Given the description of an element on the screen output the (x, y) to click on. 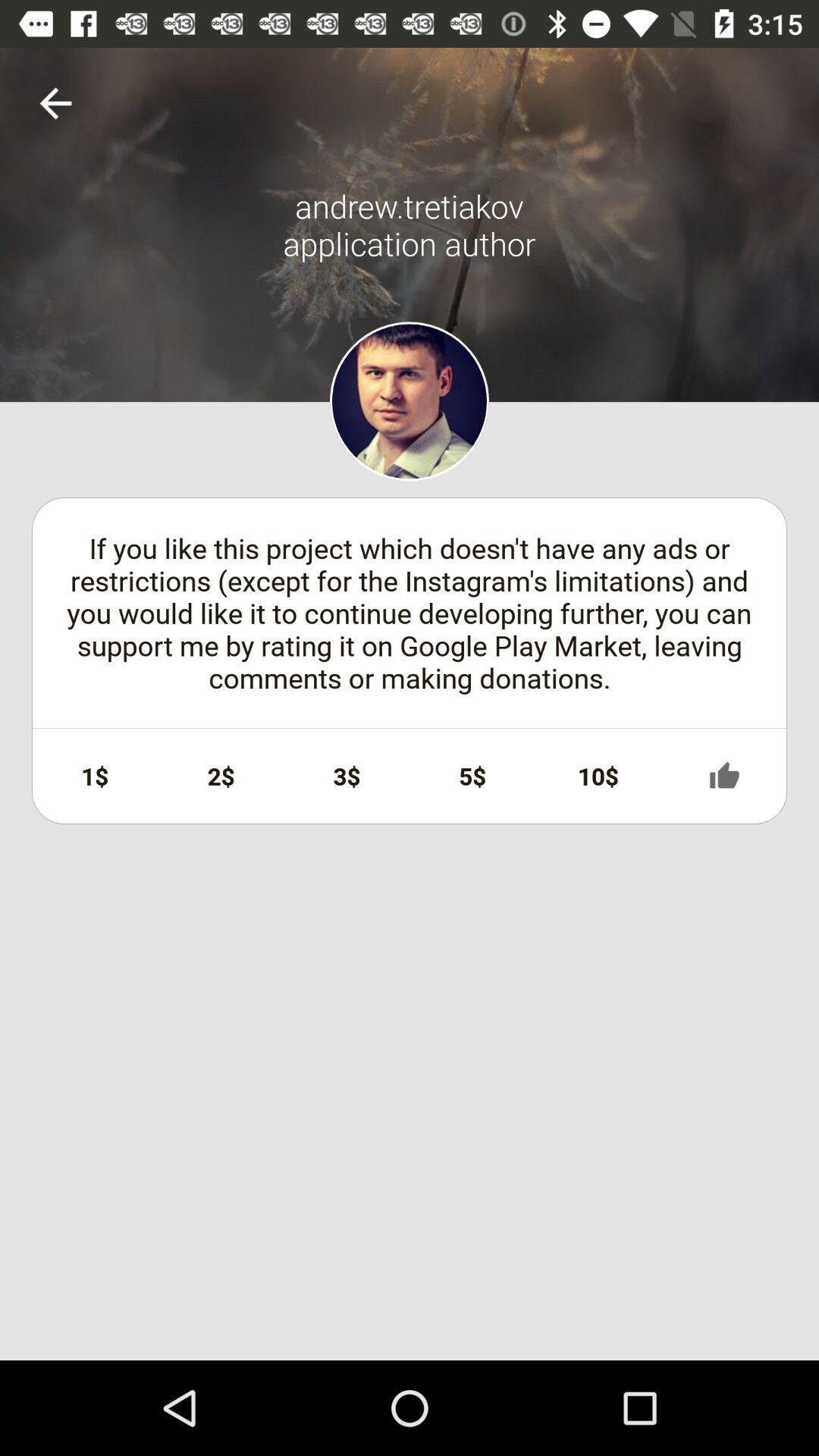
user profile image (409, 401)
